Given the description of an element on the screen output the (x, y) to click on. 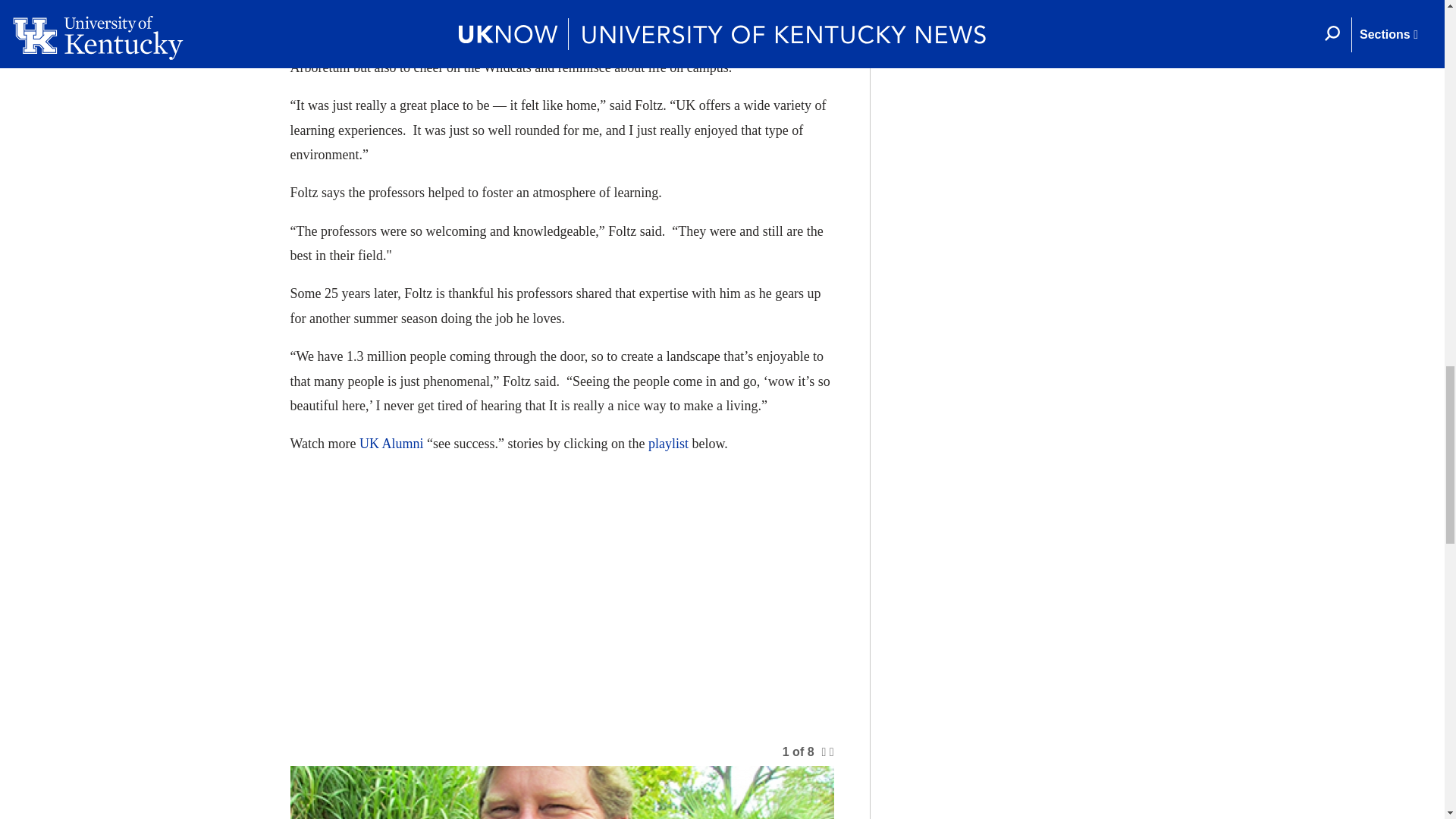
UK Alumni (391, 443)
Lexington (677, 42)
playlist (667, 443)
